Given the description of an element on the screen output the (x, y) to click on. 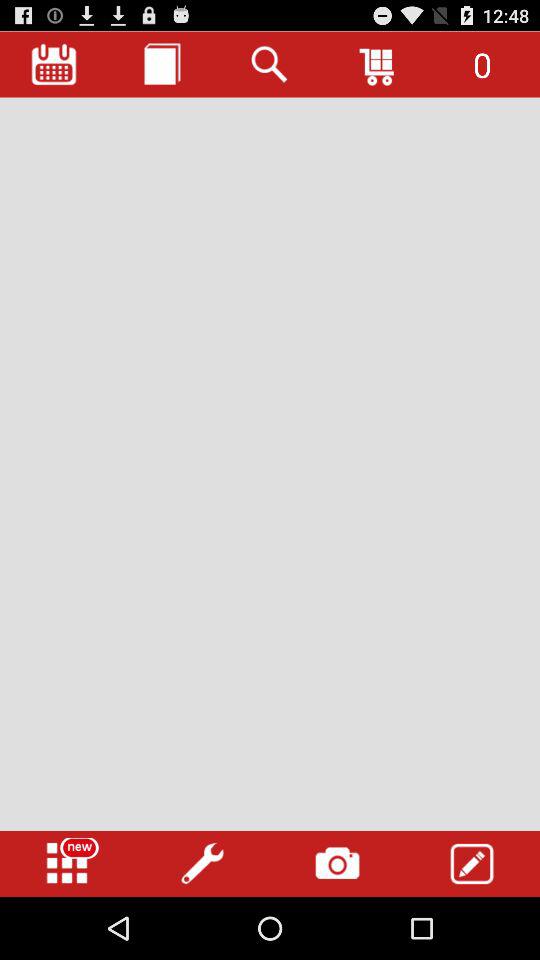
turn off the icon to the left of the 0 (377, 64)
